Given the description of an element on the screen output the (x, y) to click on. 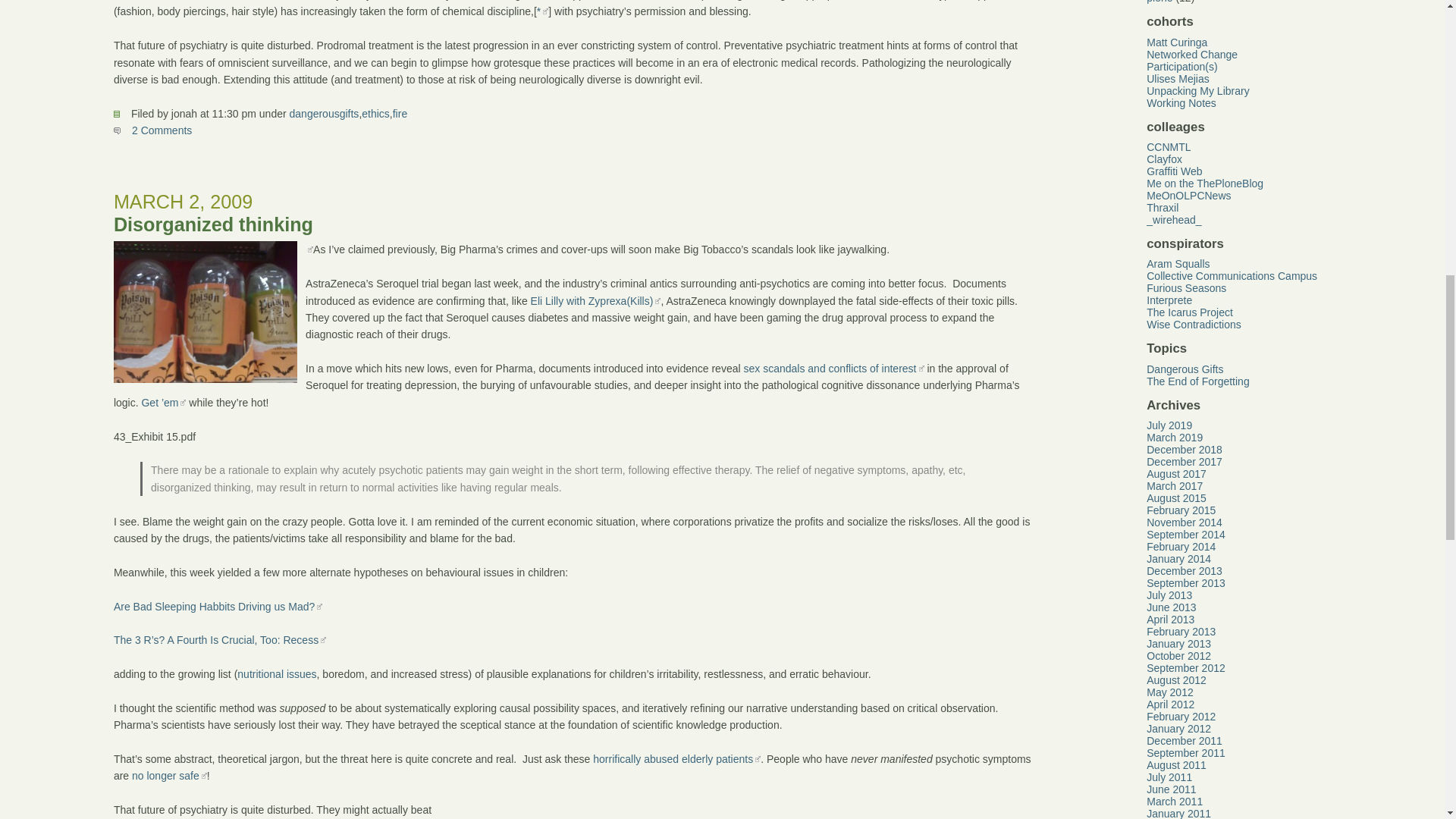
dangerousgifts (324, 113)
Are Bad Sleeping Habbits Driving us Mad? (217, 606)
nutritional issues (276, 674)
ethics (375, 113)
fire (400, 113)
Disorganized thinking (213, 224)
horrifically abused elderly patients (676, 758)
2 Comments (152, 130)
no longer safe (169, 775)
sex scandals and conflicts of interest (832, 368)
